Given the description of an element on the screen output the (x, y) to click on. 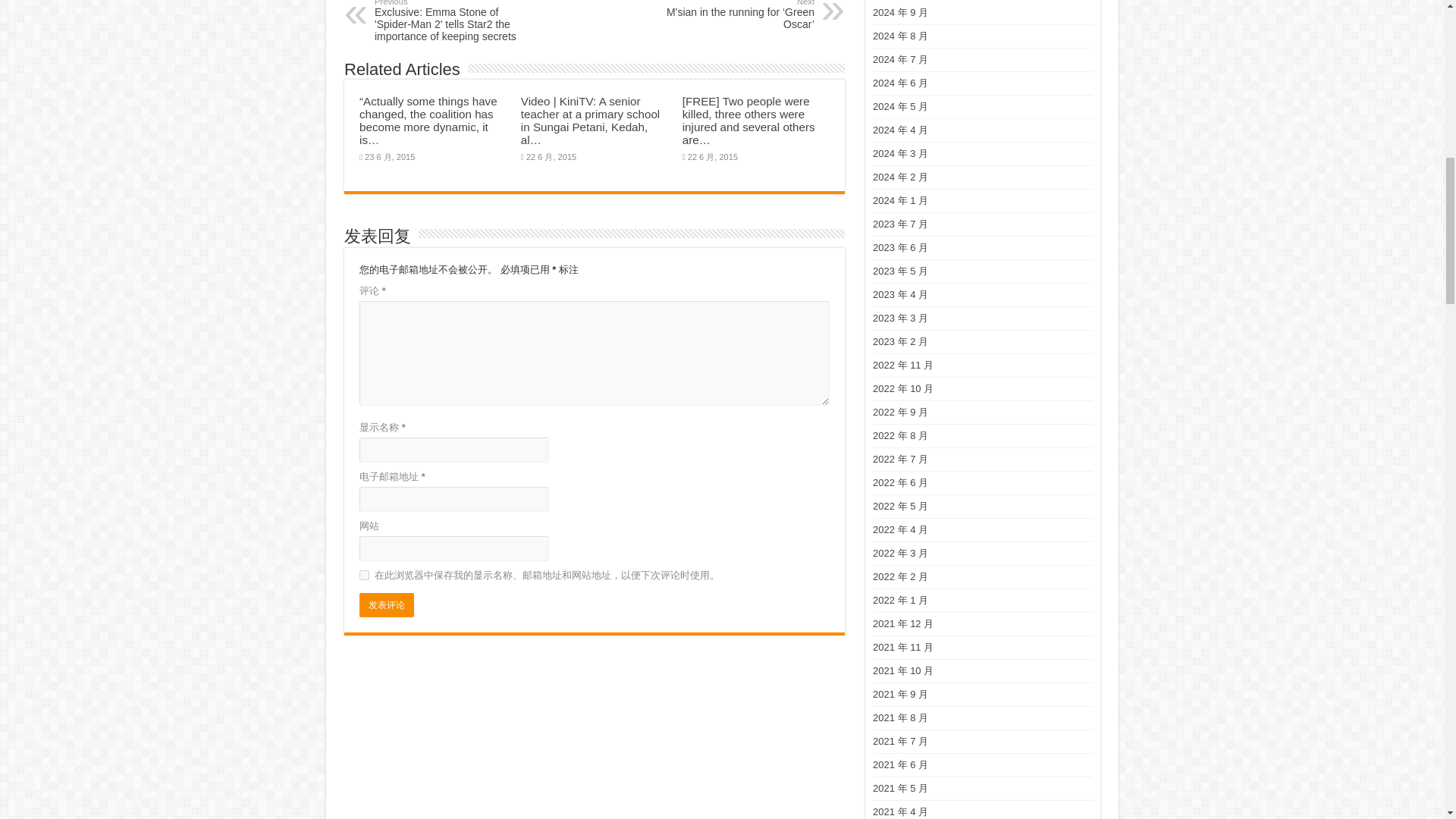
yes (364, 574)
Scroll To Top (1421, 60)
